Given the description of an element on the screen output the (x, y) to click on. 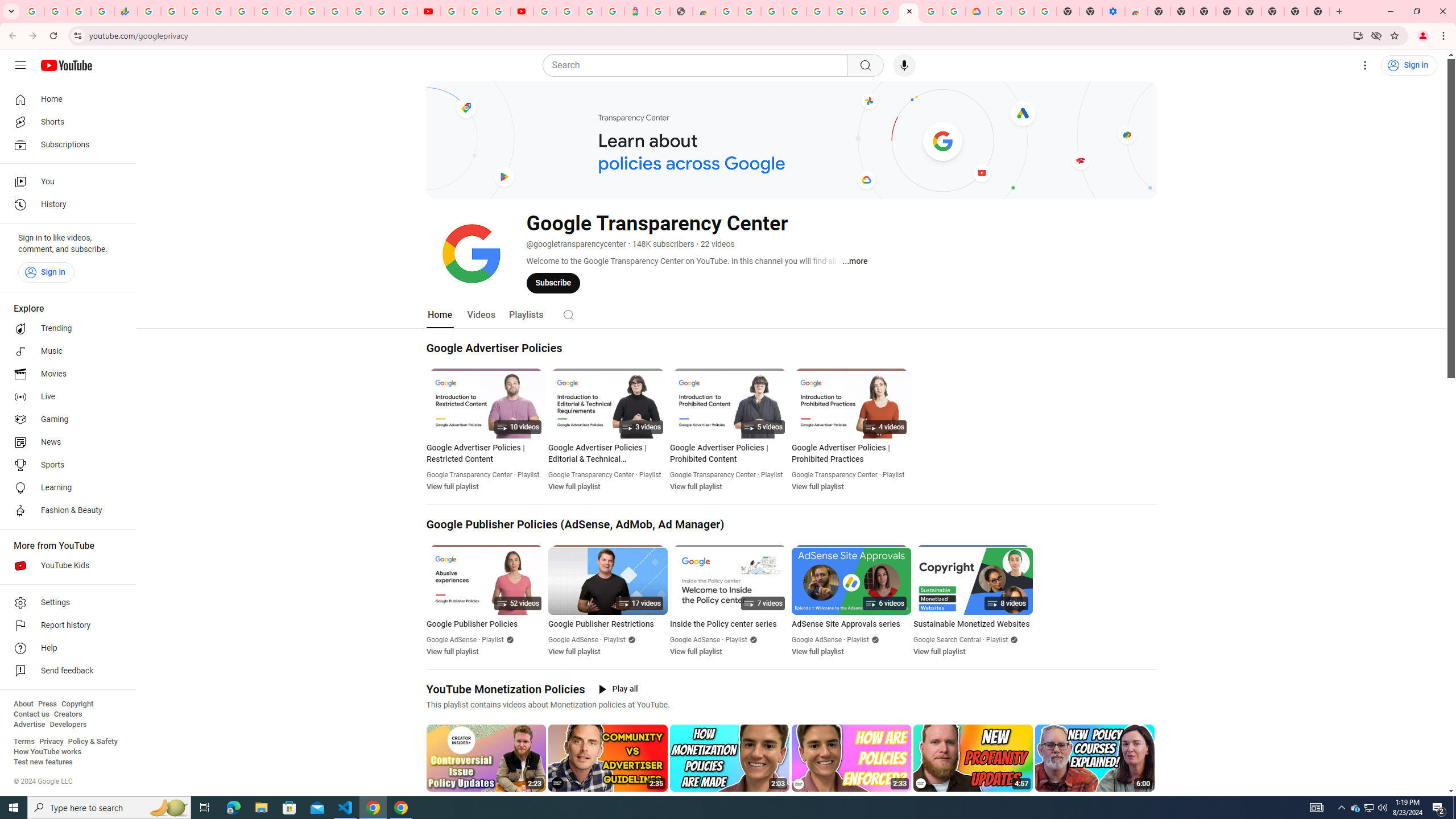
Sign in - Google Accounts (218, 11)
Google Account Help (863, 11)
Playlist (997, 639)
YouTube (428, 11)
About (23, 703)
Search (567, 314)
View site information (77, 35)
Privacy (51, 741)
Guide (20, 65)
History (64, 204)
Google Publisher Policies (AdSense, AdMob, Ad Manager) (575, 524)
